Given the description of an element on the screen output the (x, y) to click on. 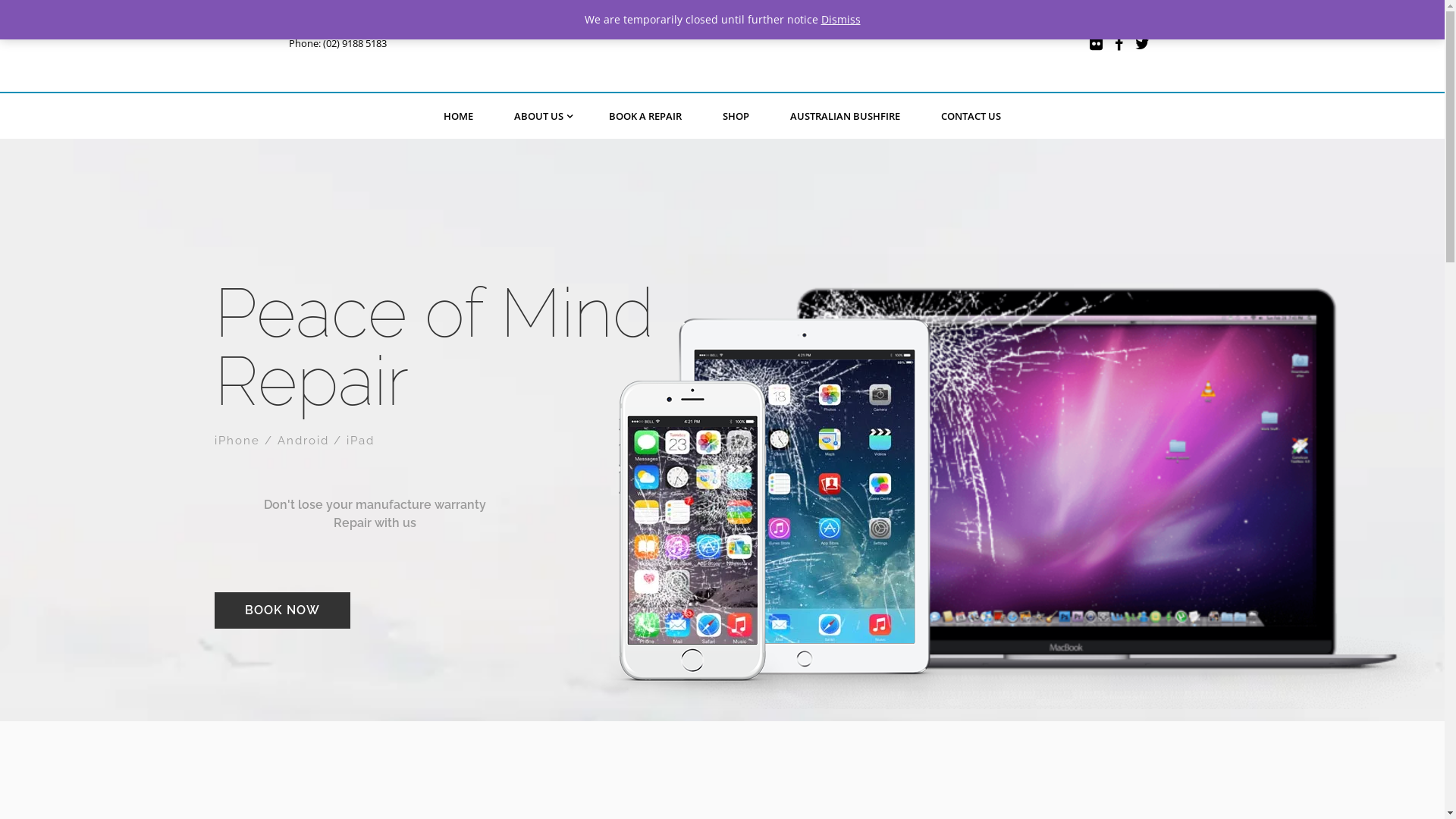
CONTACT US Element type: text (970, 116)
Dismiss Element type: text (839, 19)
AUSTRALIAN BUSHFIRE Element type: text (845, 116)
HOME Element type: text (458, 116)
BOOK A REPAIR Element type: text (644, 116)
ABOUT US Element type: text (540, 116)
SHOP Element type: text (735, 116)
